Given the description of an element on the screen output the (x, y) to click on. 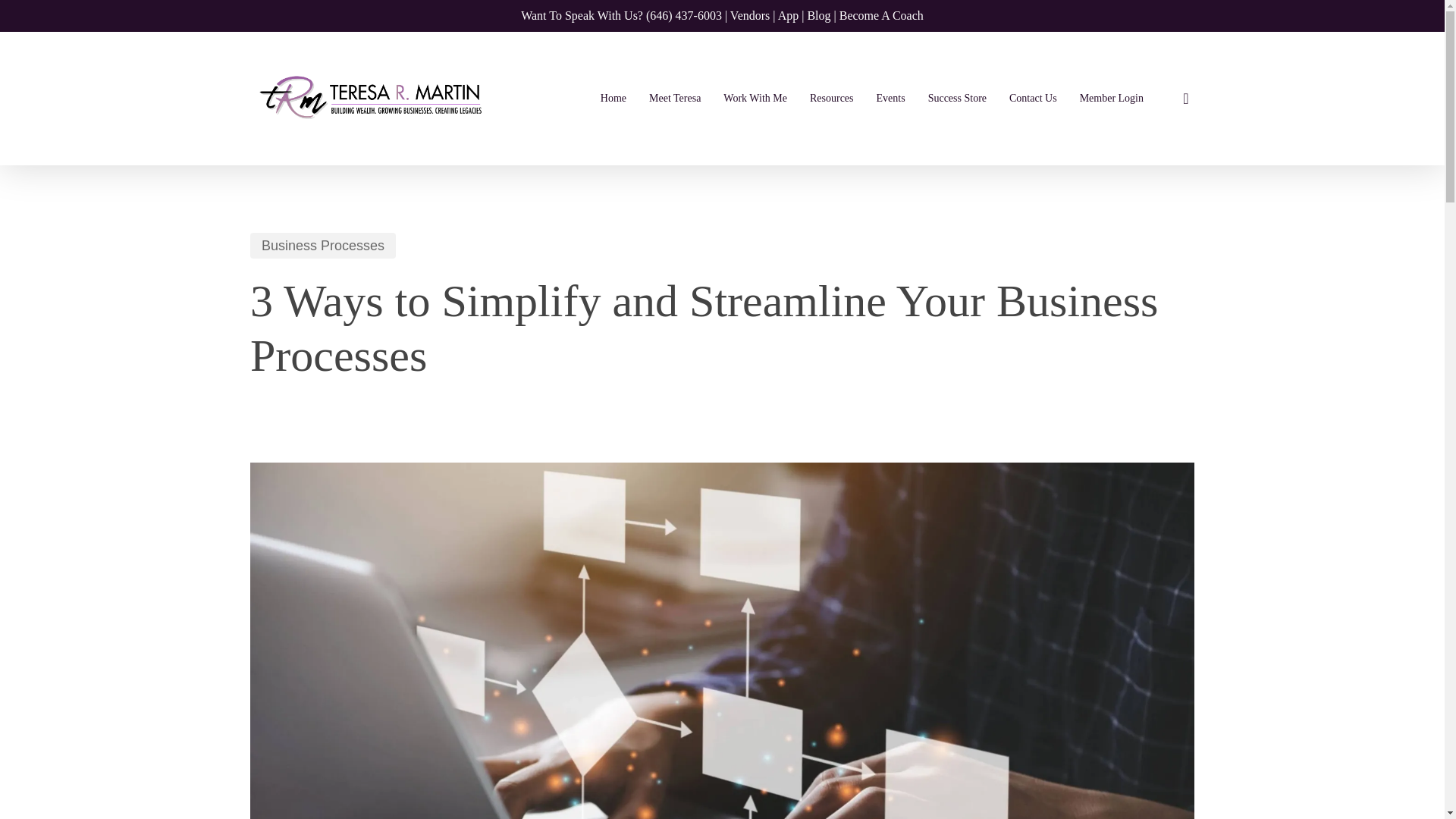
Resources (830, 97)
Blog (817, 15)
Become A Coach (881, 15)
Vendors (750, 15)
Home (613, 97)
Work With Me (754, 97)
Meet Teresa (674, 97)
App (788, 15)
Events (890, 97)
